Given the description of an element on the screen output the (x, y) to click on. 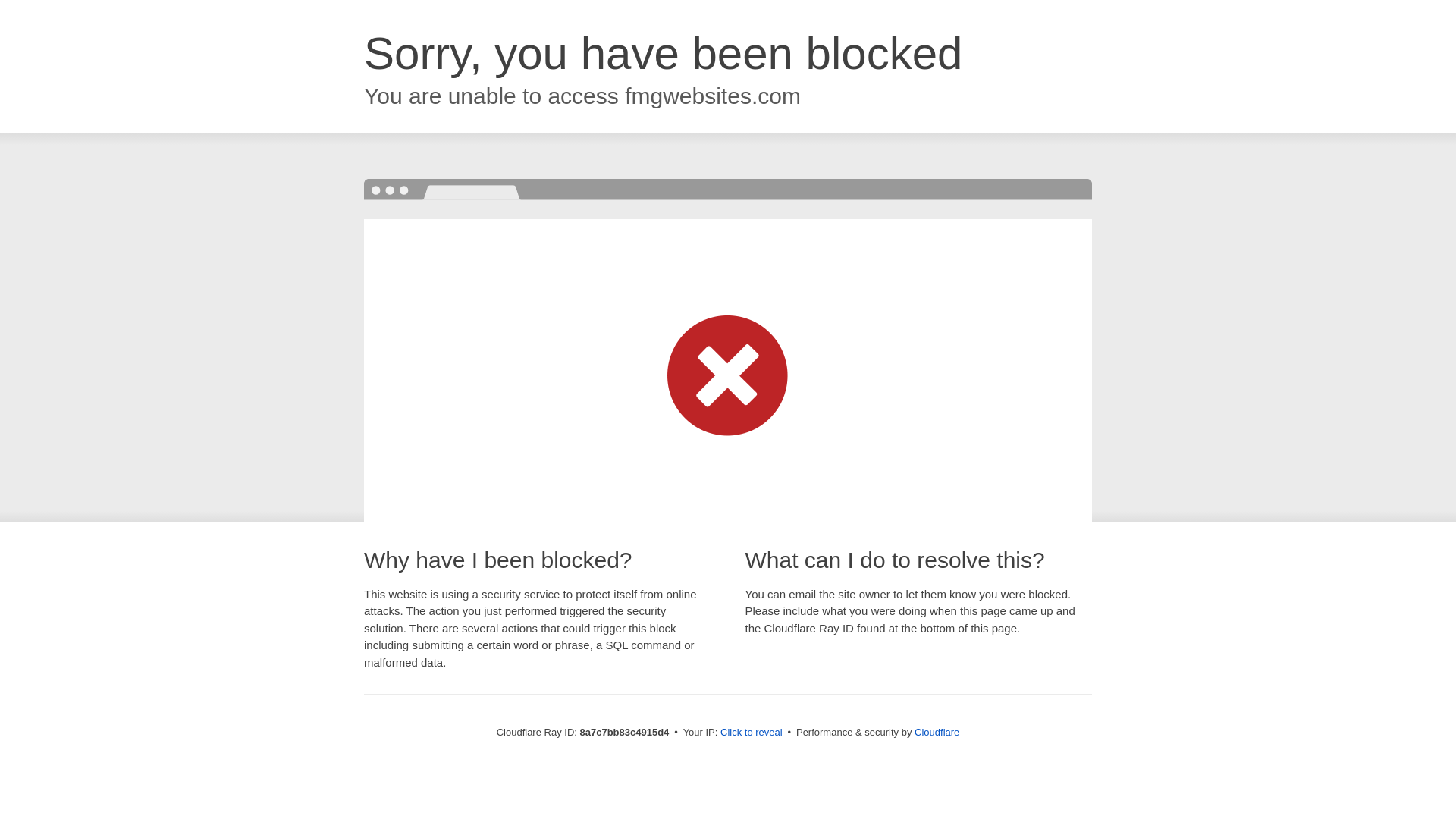
Click to reveal (751, 732)
Cloudflare (936, 731)
